Given the description of an element on the screen output the (x, y) to click on. 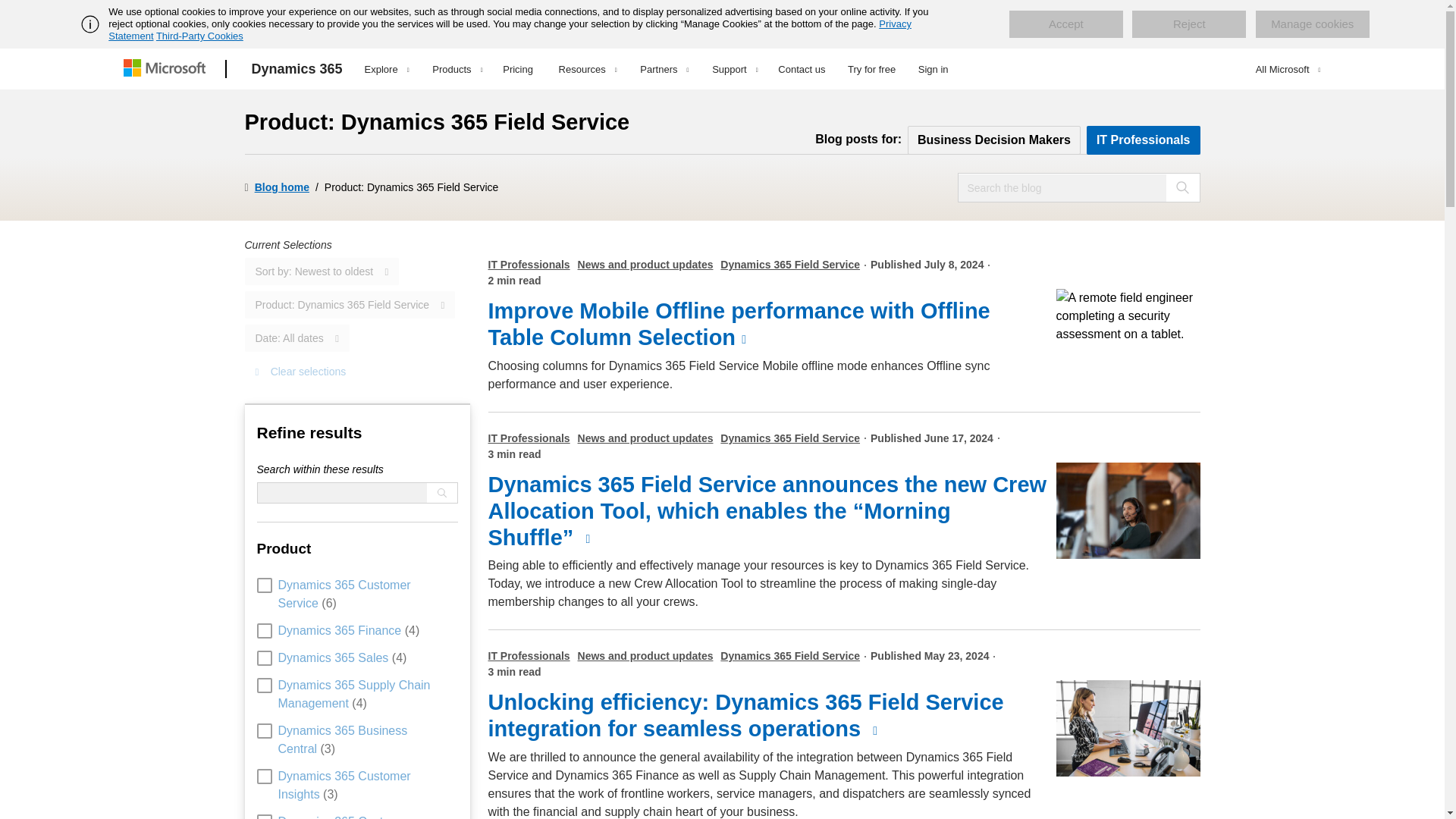
Manage cookies (1312, 23)
Privacy Statement (509, 29)
Accept (1065, 23)
Explore (387, 69)
Products (457, 69)
Microsoft (167, 69)
Dynamics 365 (297, 69)
Reject (1189, 23)
Third-Party Cookies (199, 35)
